Given the description of an element on the screen output the (x, y) to click on. 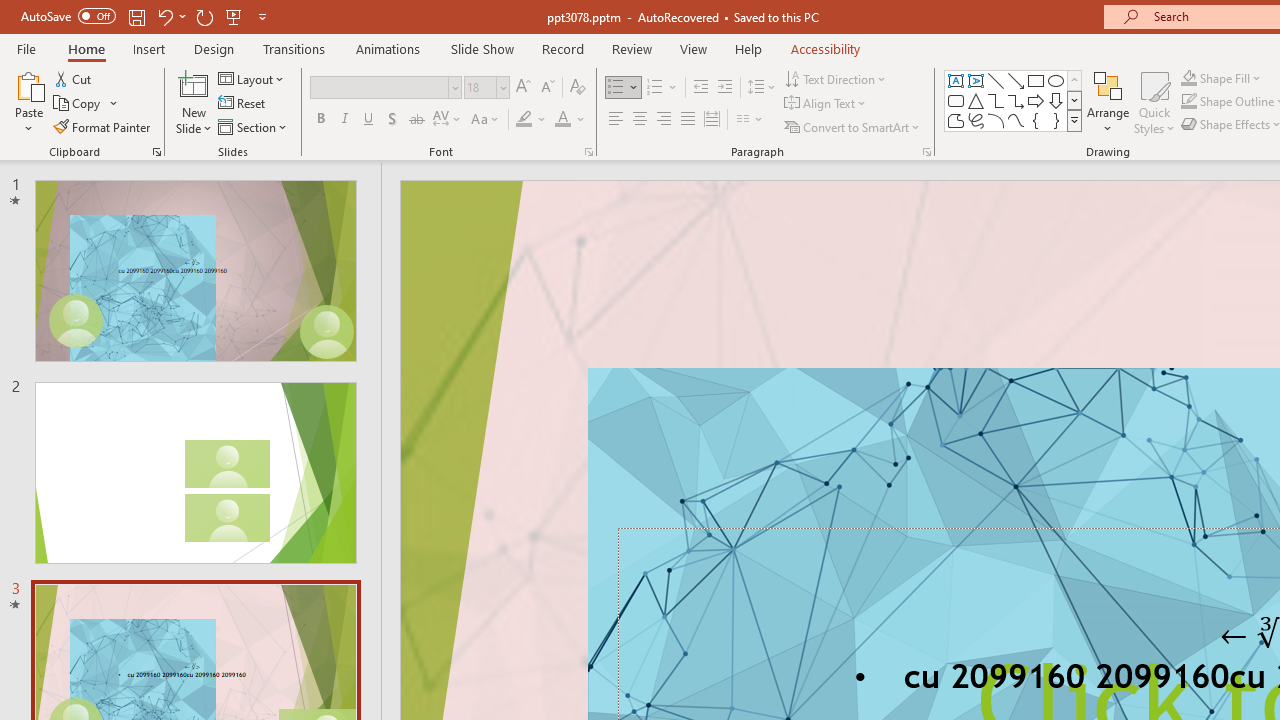
Shape Outline Green, Accent 1 (1188, 101)
